Given the description of an element on the screen output the (x, y) to click on. 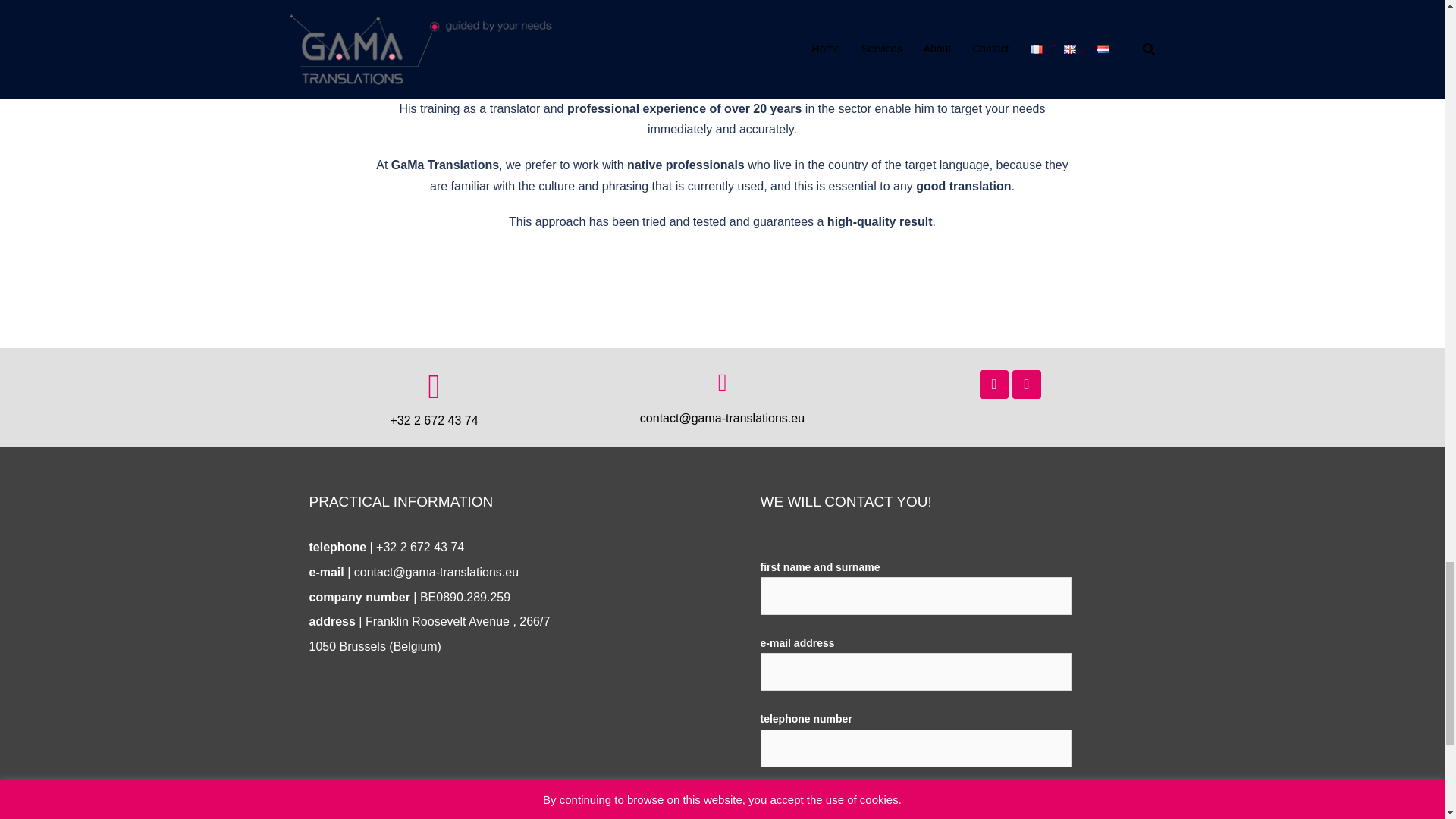
1 (775, 794)
website confidentiality policy. (947, 813)
